Given the description of an element on the screen output the (x, y) to click on. 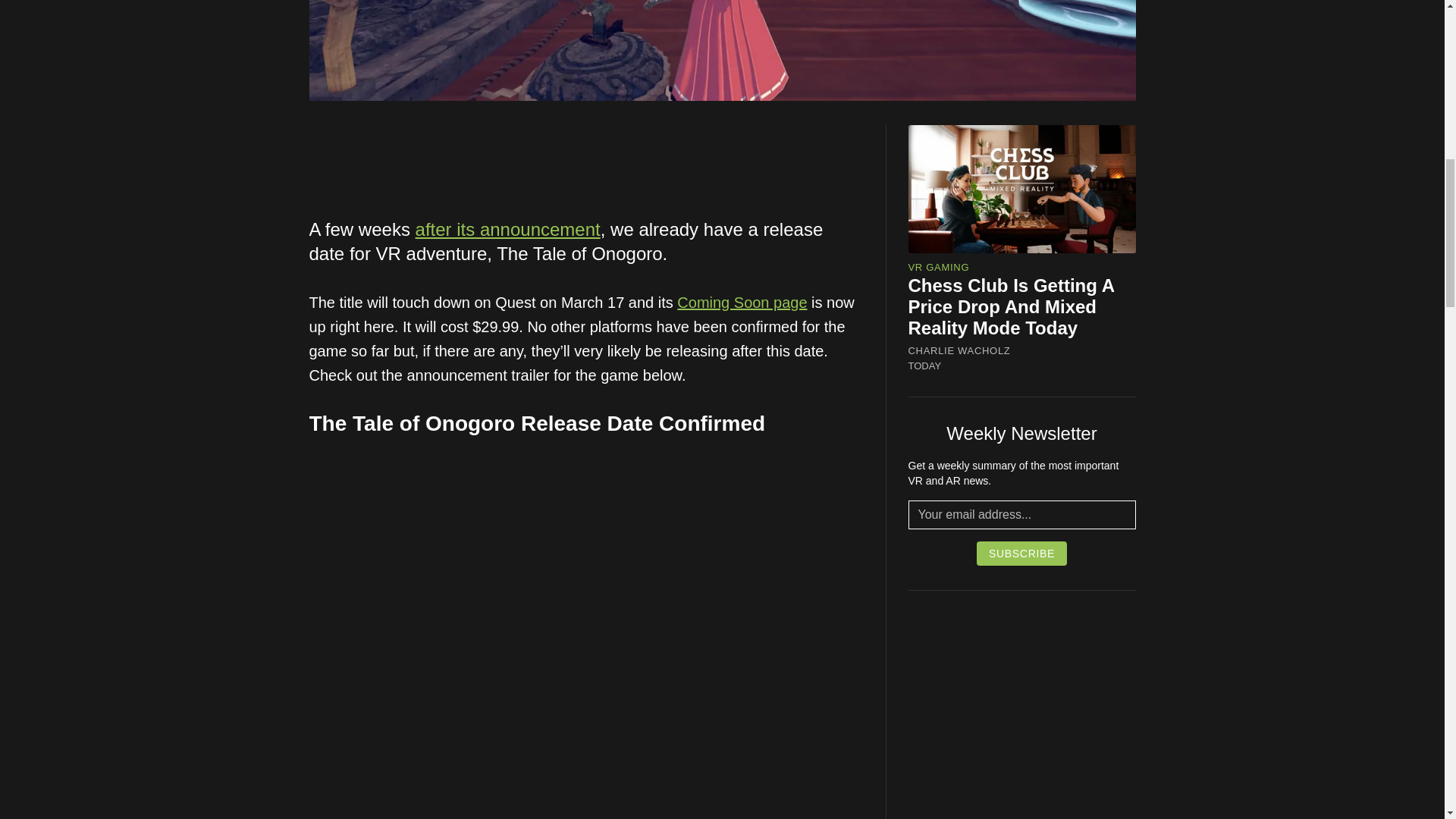
after its announcement (506, 229)
Coming Soon page (741, 302)
Subscribe (1021, 553)
Subscribe (1021, 553)
CHARLIE WACHOLZ (959, 350)
VR GAMING (938, 266)
